Given the description of an element on the screen output the (x, y) to click on. 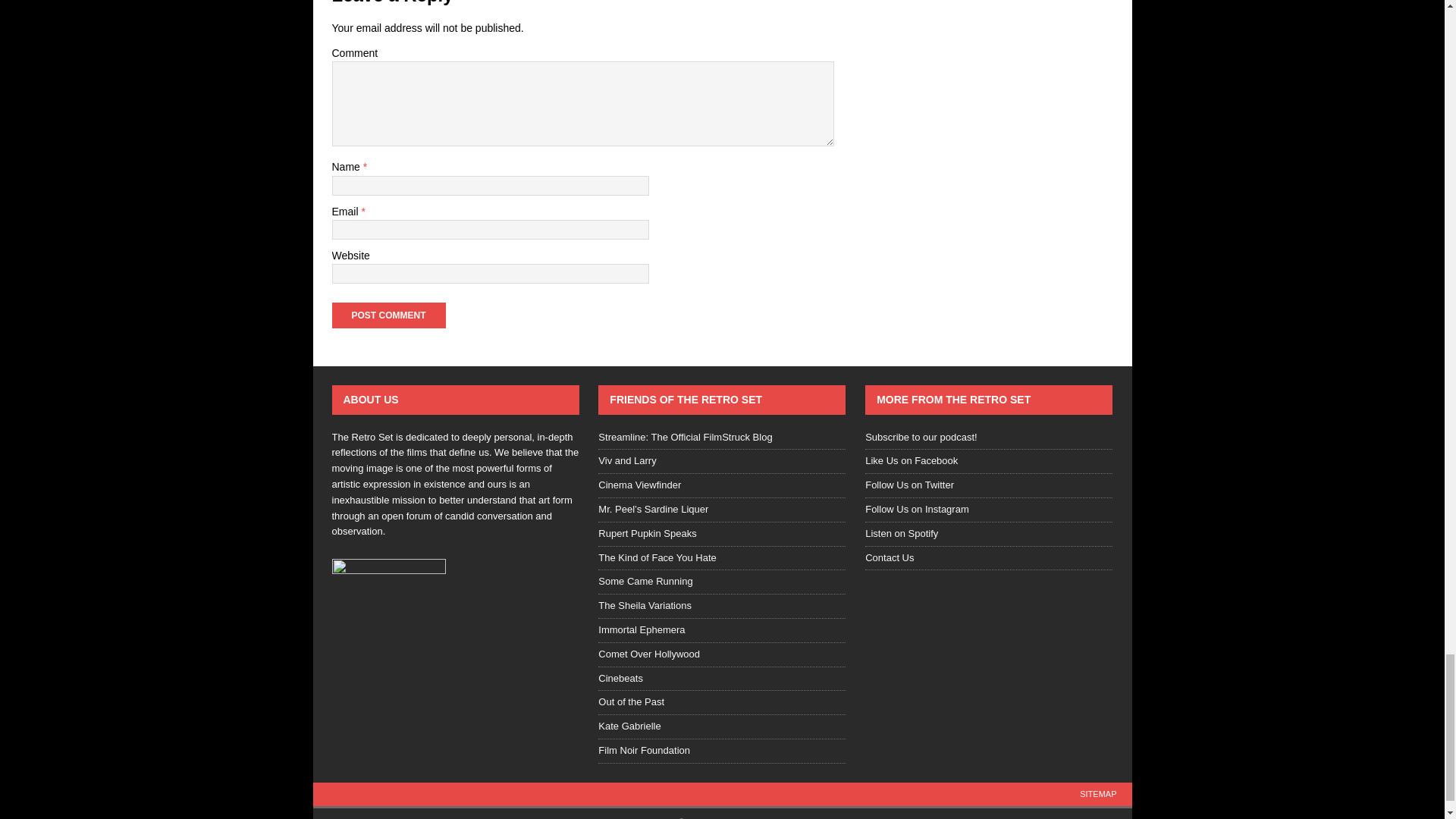
Post Comment (388, 315)
